Given the description of an element on the screen output the (x, y) to click on. 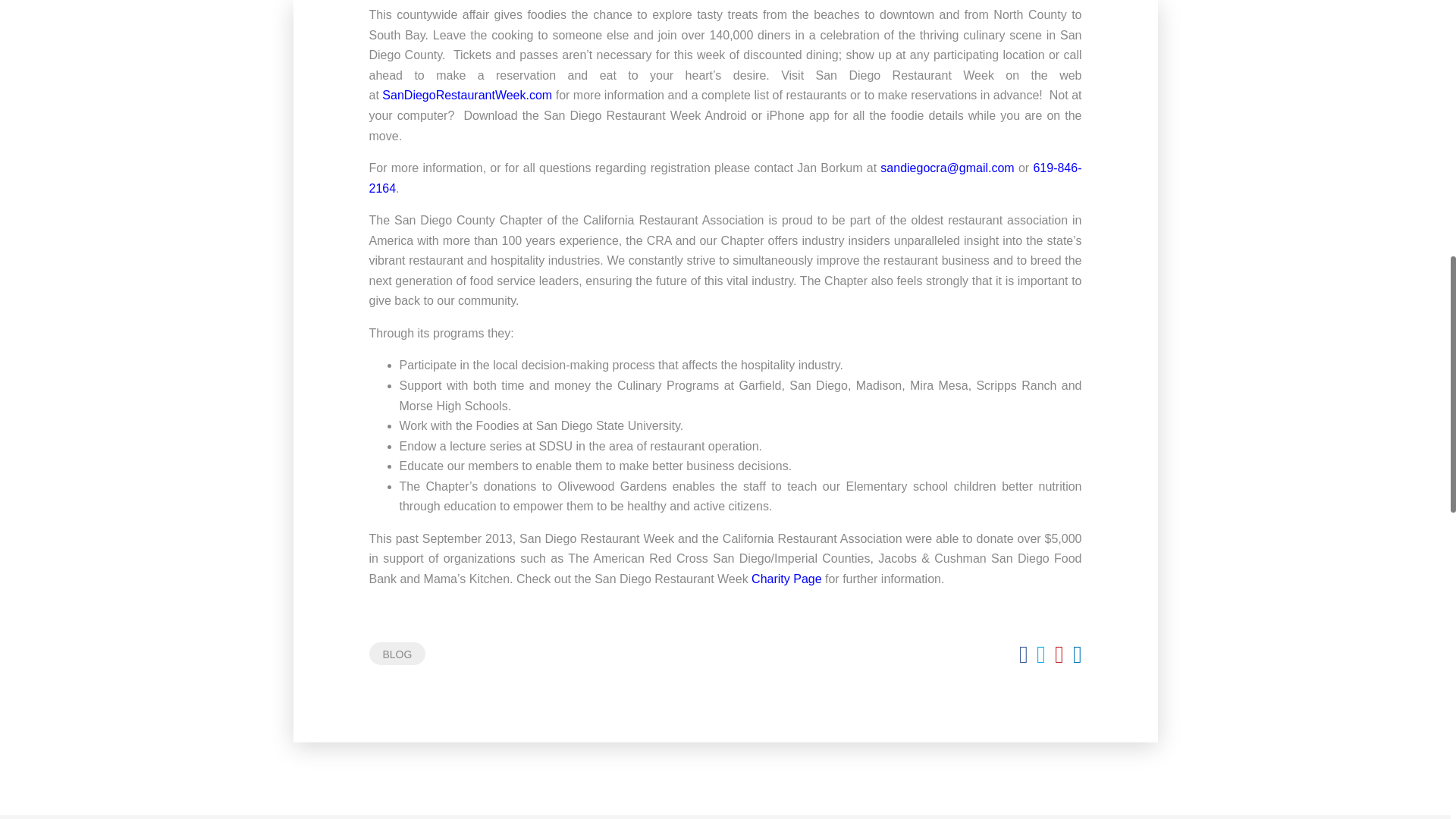
BLOG (396, 653)
Charity Page  (788, 578)
Charity Page (788, 578)
SanDiegoRestaurantWeek.com (466, 94)
619-846-2164 (724, 177)
